Given the description of an element on the screen output the (x, y) to click on. 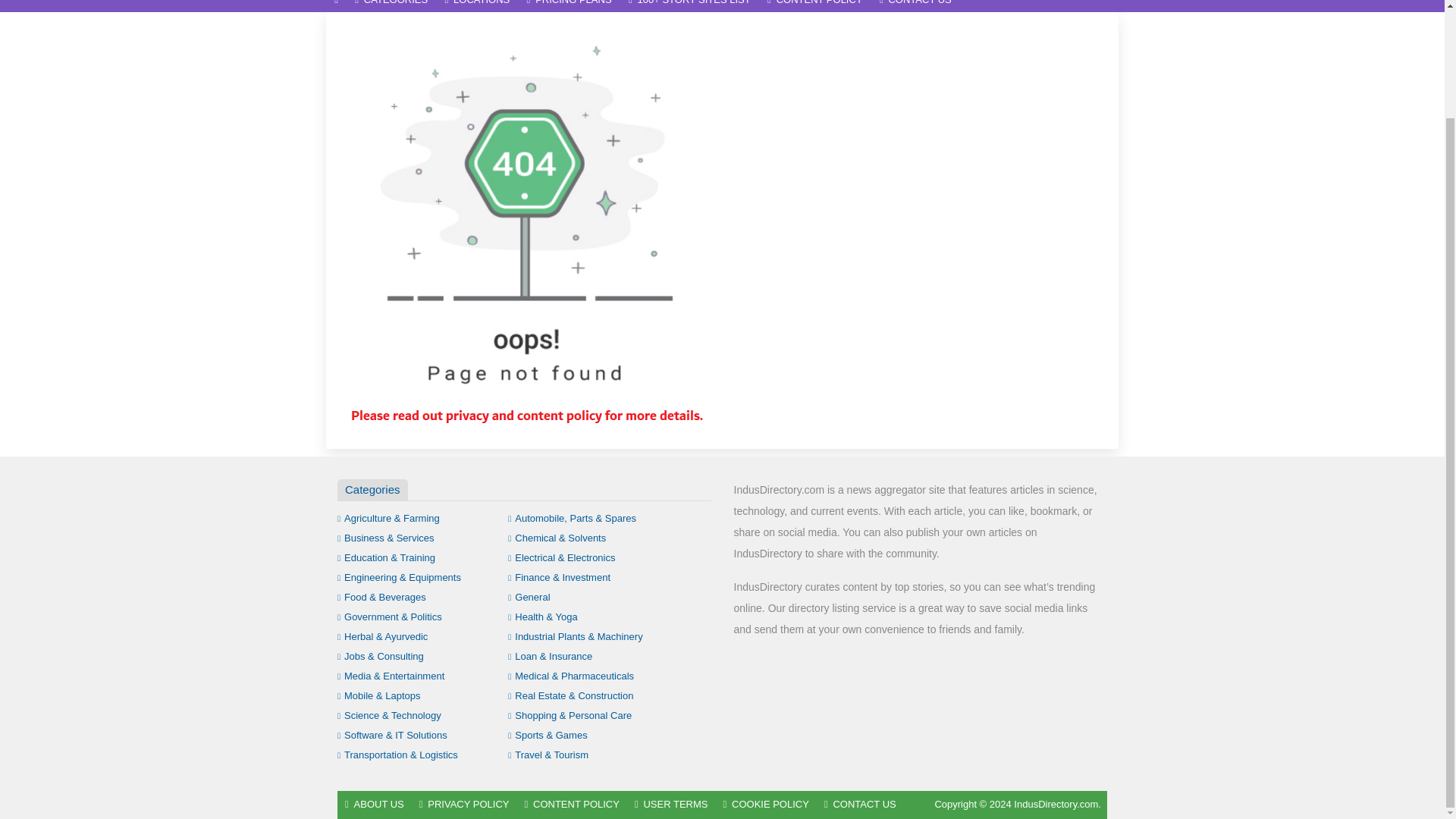
General (529, 596)
PRICING PLANS (569, 6)
CONTACT US (914, 6)
HOME (336, 6)
CONTENT POLICY (814, 6)
LOCATIONS (476, 6)
CATEGORIES (390, 6)
